Given the description of an element on the screen output the (x, y) to click on. 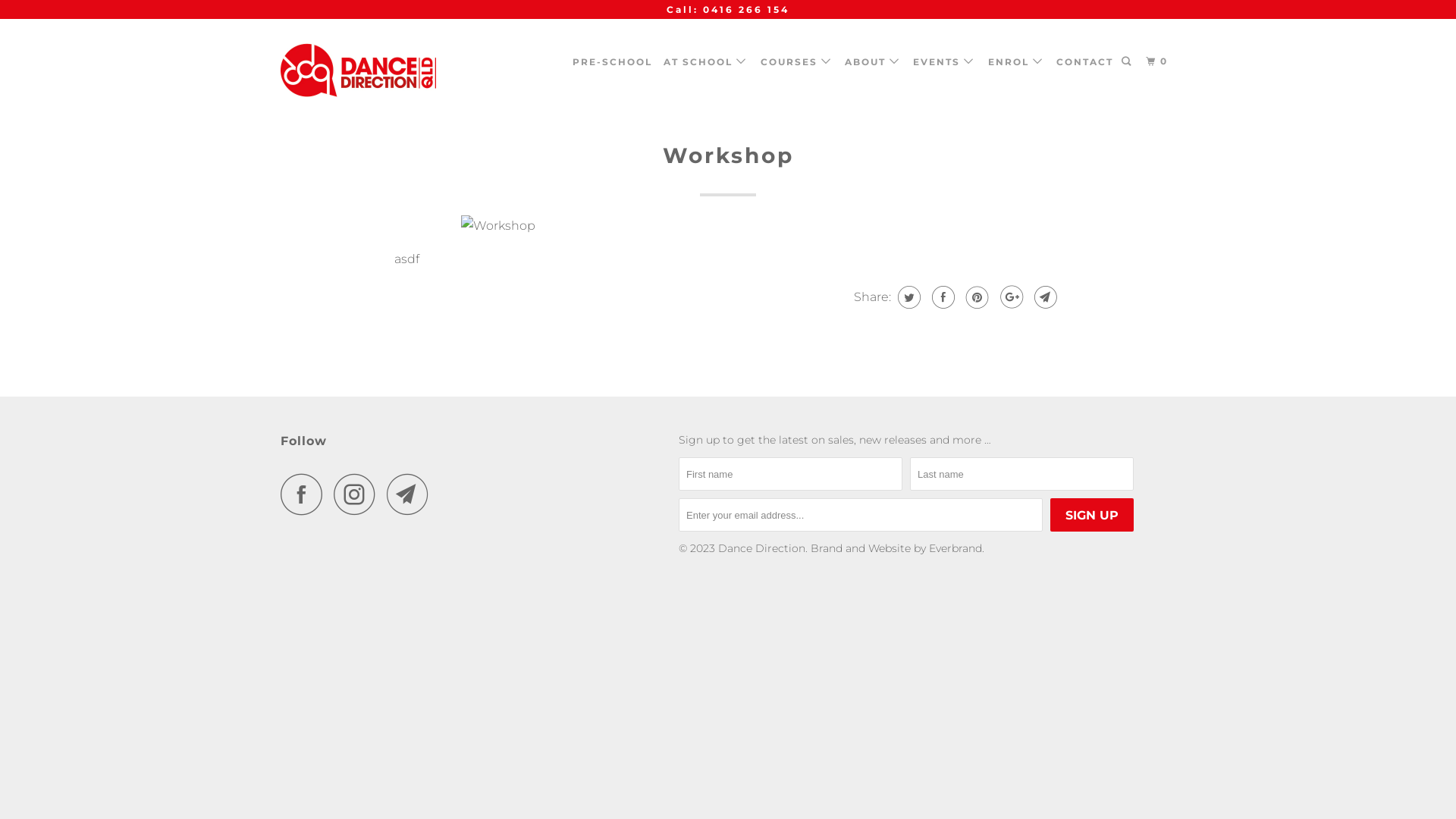
EVENTS Element type: text (944, 61)
Dance Direction Element type: hover (358, 73)
Share this on Pinterest Element type: hover (975, 296)
Share this on Google+ Element type: hover (1009, 296)
ENROL Element type: text (1016, 61)
Share this on Twitter Element type: hover (907, 296)
Email Dance Direction Element type: hover (411, 493)
PRE-SCHOOL Element type: text (612, 62)
Dance Direction Element type: text (761, 548)
ABOUT Element type: text (872, 61)
AT SCHOOL Element type: text (705, 61)
Sign Up Element type: text (1091, 514)
0 Element type: text (1157, 61)
COURSES Element type: text (796, 61)
Email this to a friend Element type: hover (1043, 296)
Dance Direction on Instagram Element type: hover (358, 493)
CONTACT Element type: text (1084, 62)
Search Element type: hover (1127, 61)
Dance Direction on Facebook Element type: hover (305, 493)
Share this on Facebook Element type: hover (941, 296)
